Given the description of an element on the screen output the (x, y) to click on. 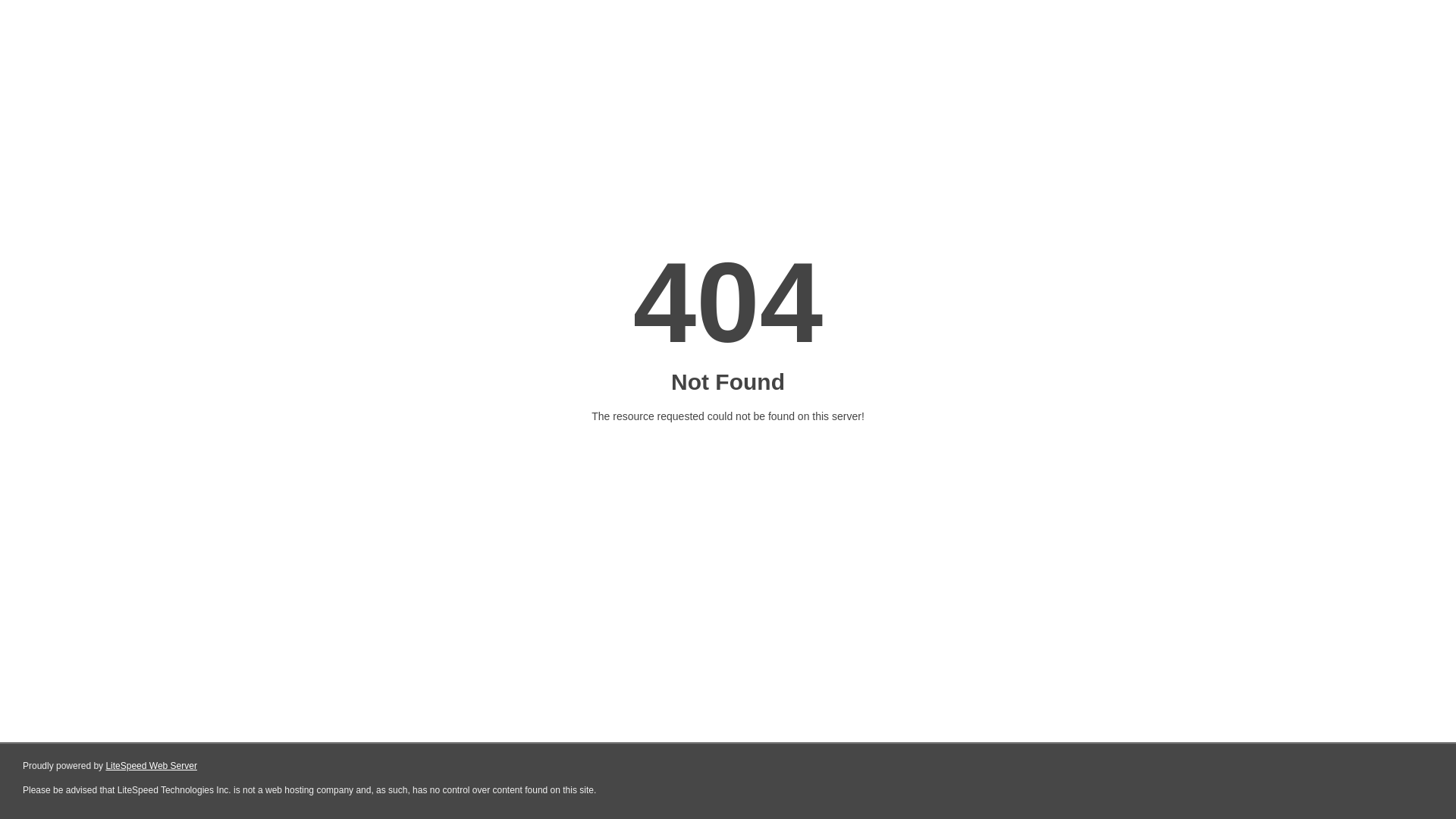
LiteSpeed Web Server Element type: text (151, 765)
